Given the description of an element on the screen output the (x, y) to click on. 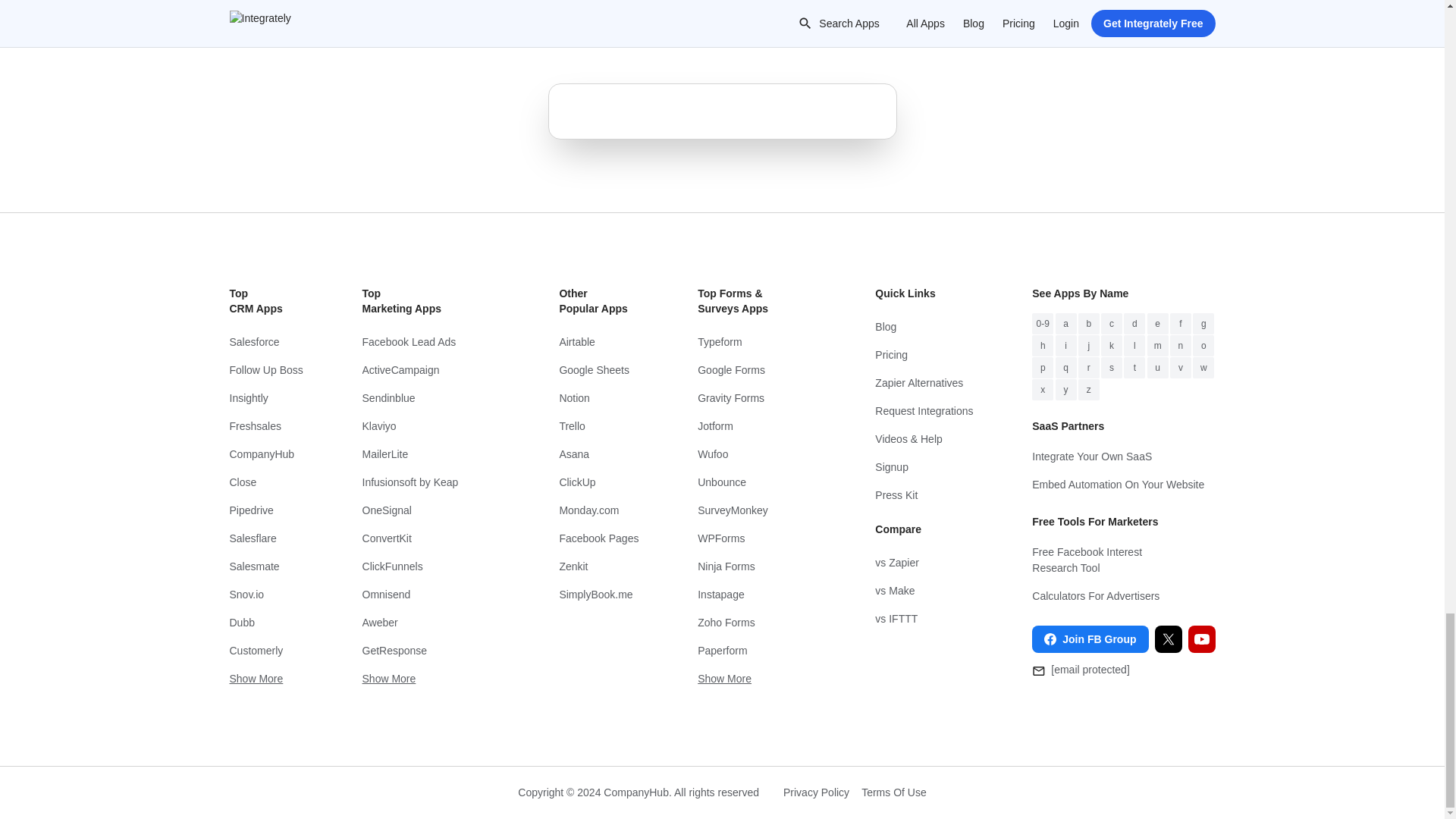
Salesmate (265, 566)
ConvertKit (431, 538)
CompanyHub (265, 454)
Klaviyo (431, 426)
Sendinblue (431, 398)
Insightly (265, 398)
Customerly (265, 651)
Salesforce (265, 342)
ActiveCampaign (431, 370)
GetResponse (431, 651)
Aweber (431, 623)
OneSignal (431, 510)
Salesflare (265, 538)
Freshsales (265, 426)
Dubb (265, 623)
